Given the description of an element on the screen output the (x, y) to click on. 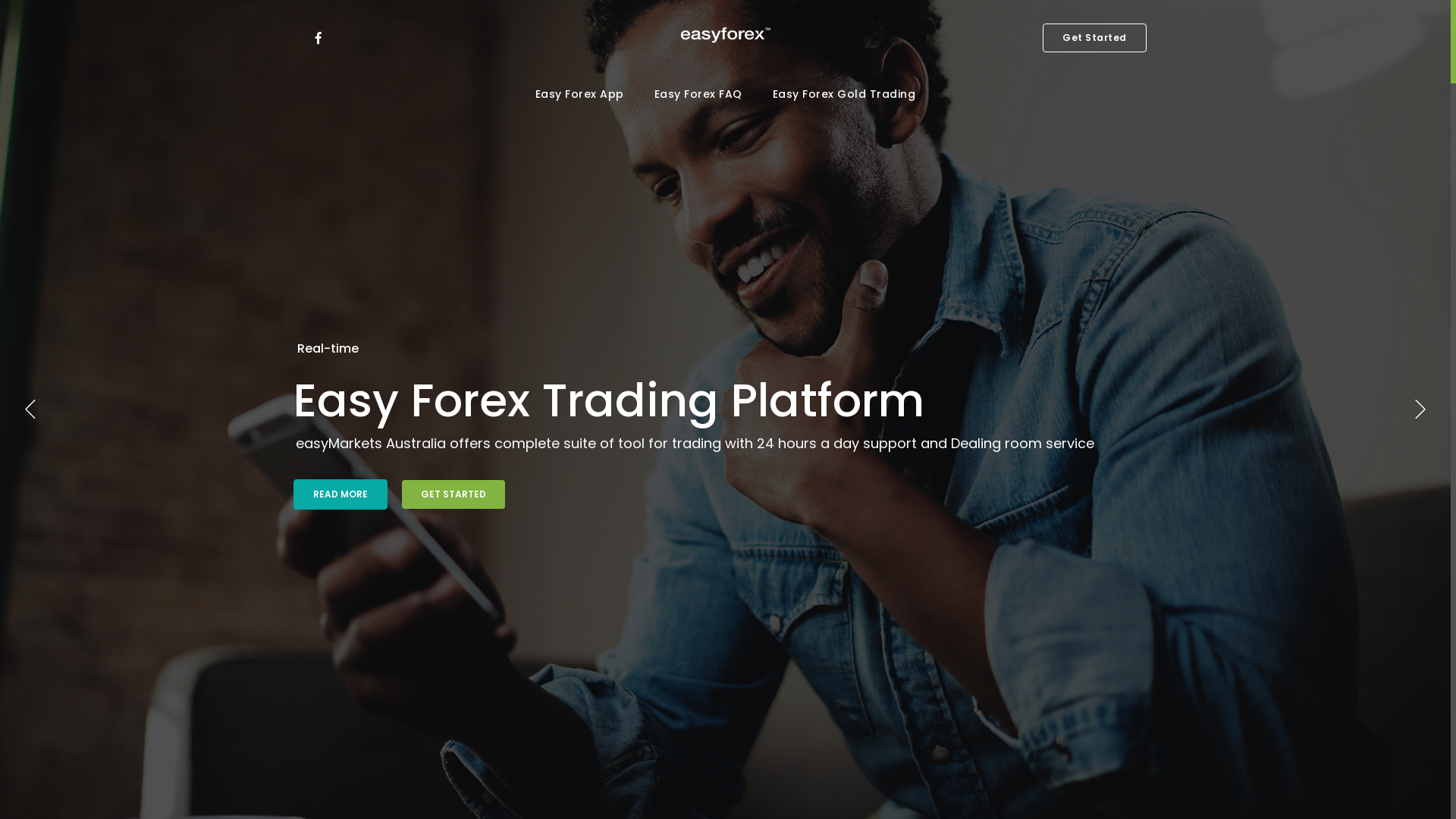
Easy Forex App Element type: text (579, 94)
Easy Forex Gold Trading Element type: text (844, 94)
Easy Forex FAQ Element type: text (698, 94)
READ MORE Element type: text (340, 494)
Get Started Element type: text (1094, 37)
GET STARTED Element type: text (453, 494)
